Given the description of an element on the screen output the (x, y) to click on. 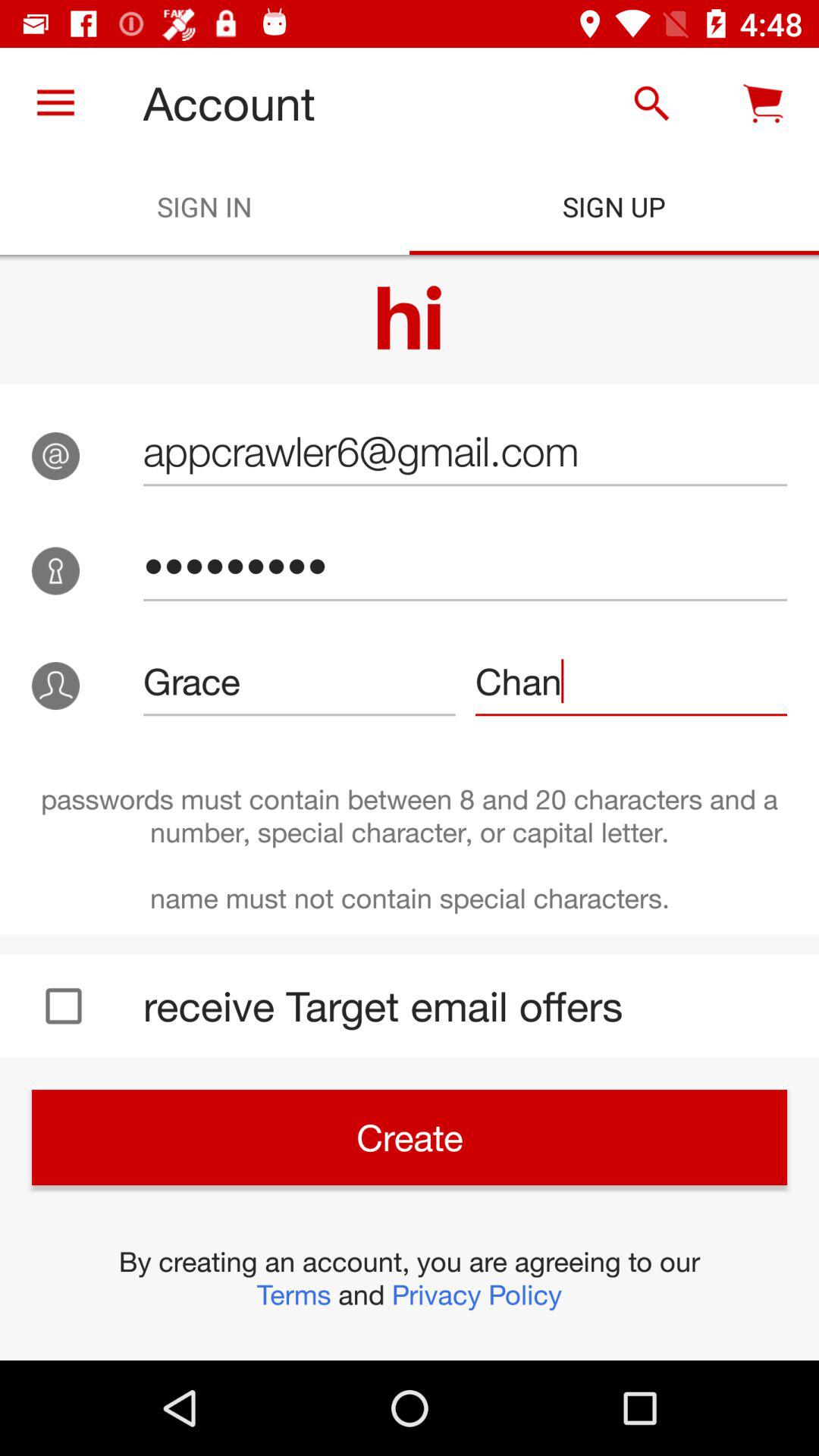
press icon above the crowd3116 item (465, 451)
